Given the description of an element on the screen output the (x, y) to click on. 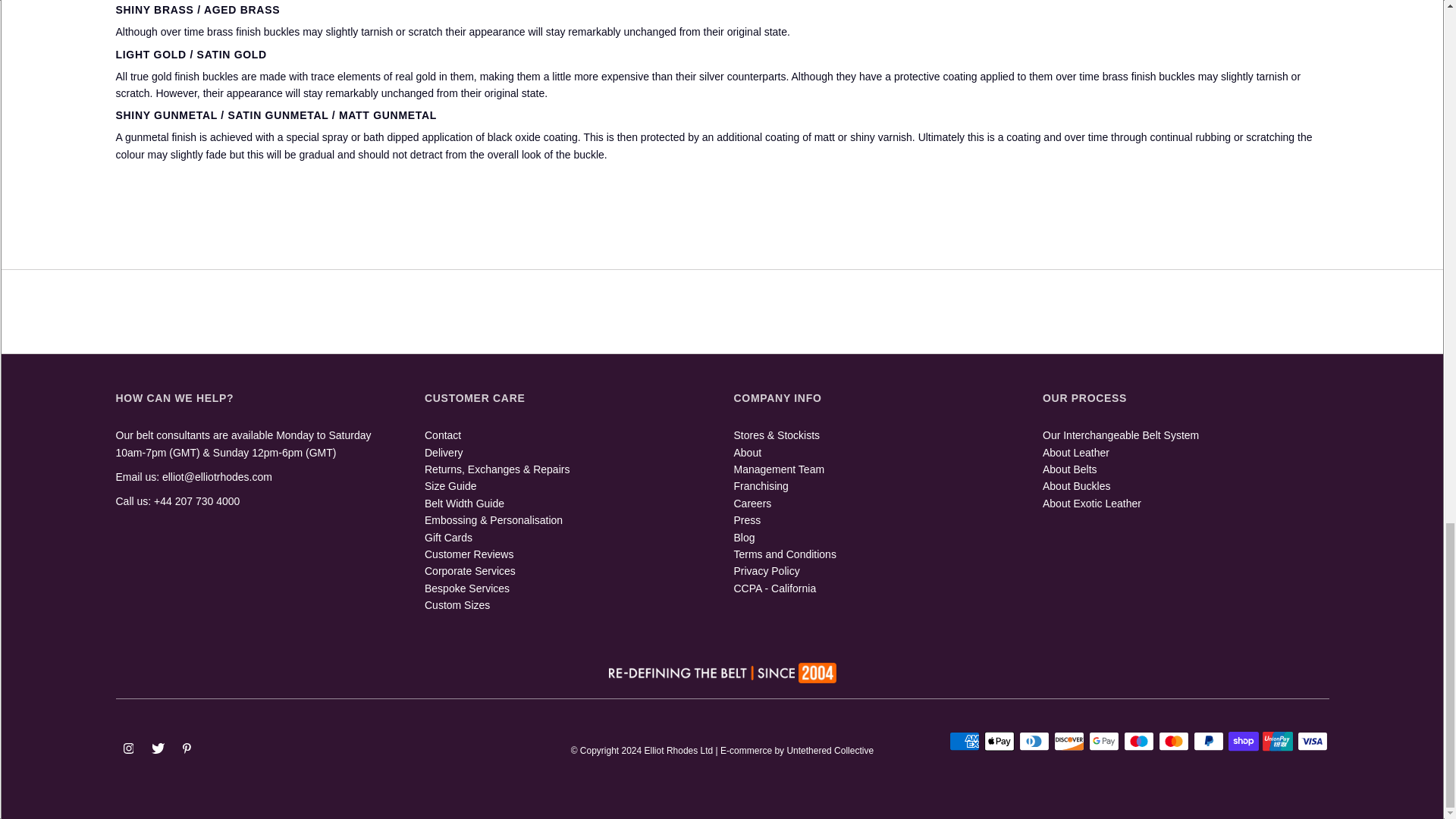
Mastercard (1173, 741)
Diners Club (1034, 741)
Maestro (1139, 741)
American Express (964, 741)
Discover (1069, 741)
Google Pay (1104, 741)
Apple Pay (999, 741)
